Given the description of an element on the screen output the (x, y) to click on. 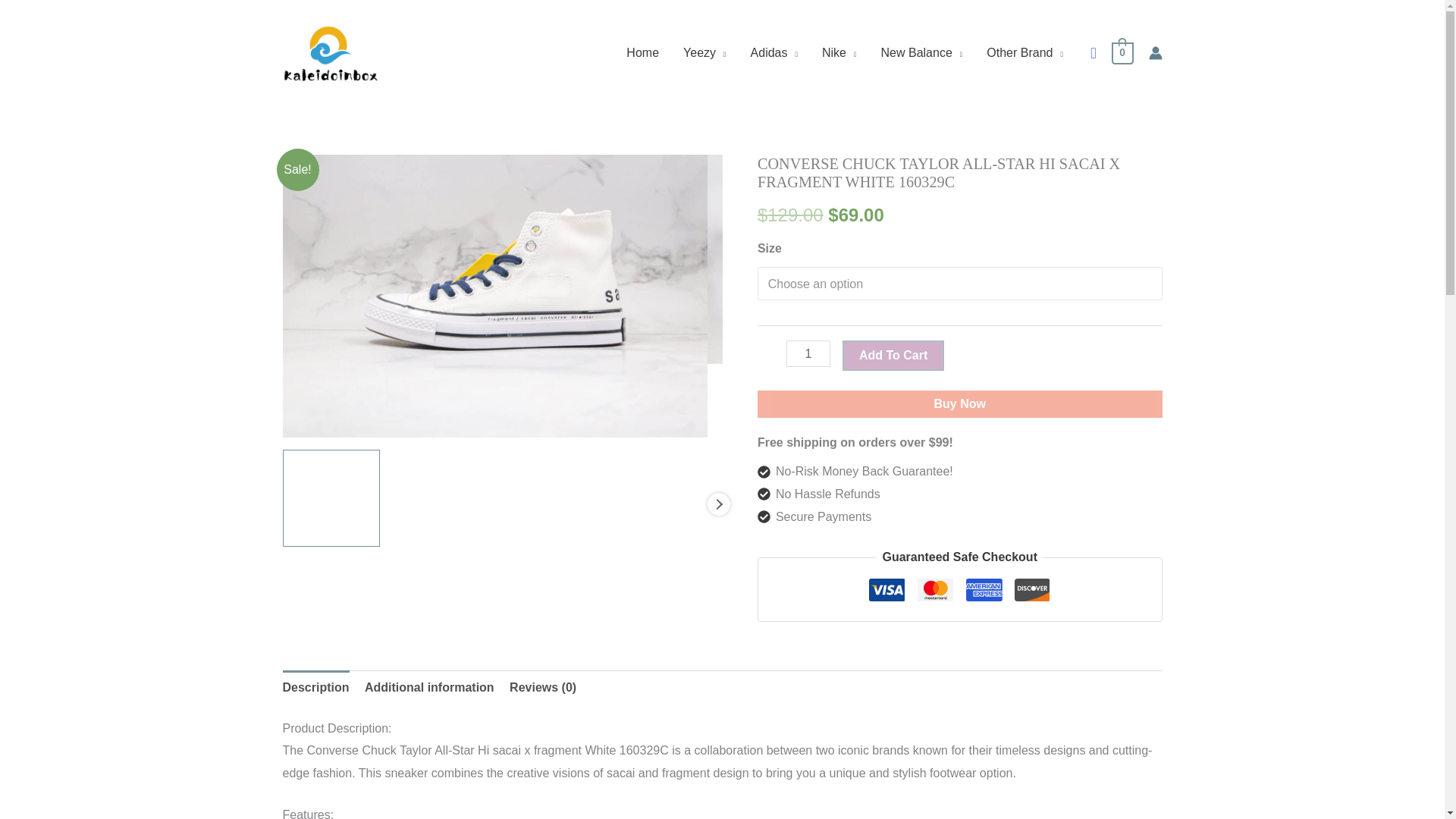
Home (642, 52)
Adidas (773, 52)
Yeezy (704, 52)
